Given the description of an element on the screen output the (x, y) to click on. 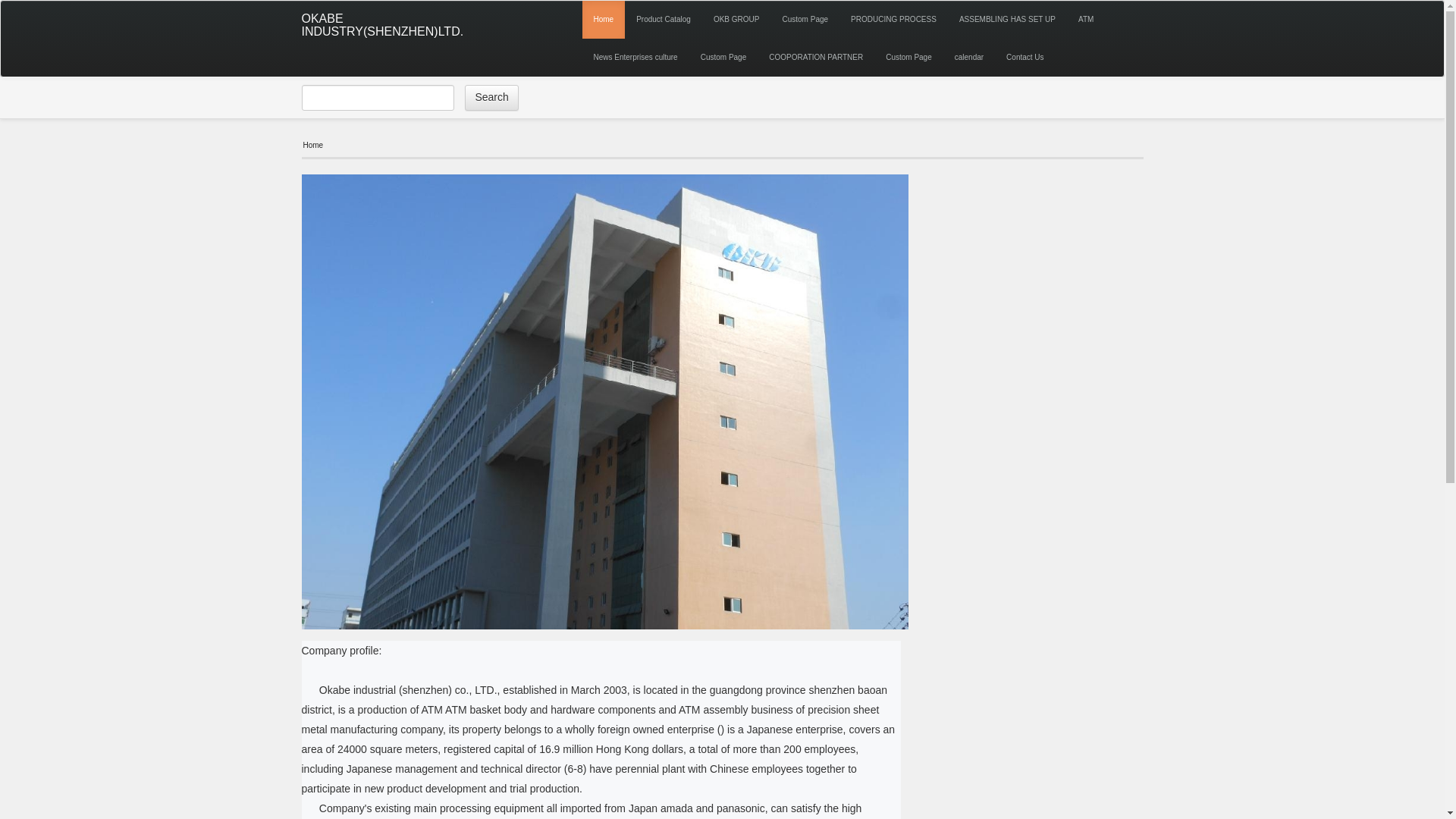
ASSEMBLING HAS SET UP (1007, 19)
Custom Page (909, 57)
COOPORATION PARTNER (816, 57)
Search (491, 97)
Custom Page (723, 57)
PRODUCING PROCESS (893, 19)
Custom Page (805, 19)
Custom Page (909, 57)
OKB GROUP (736, 19)
ASSEMBLING HAS SET UP (1007, 19)
Home (604, 19)
Contact Us (1024, 57)
Custom Page (723, 57)
News    Enterprises culture (635, 57)
Product Catalog (662, 19)
